Given the description of an element on the screen output the (x, y) to click on. 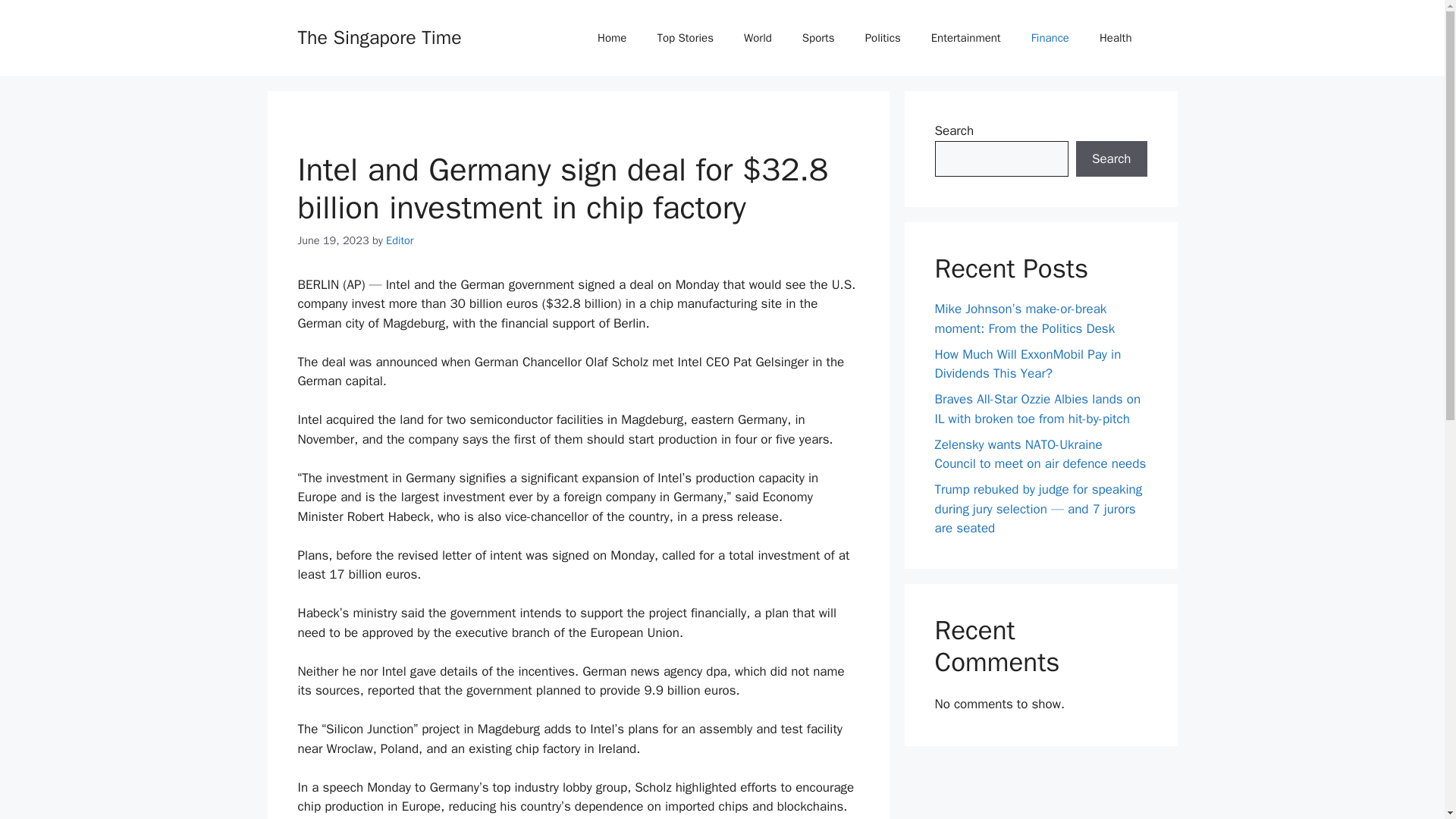
Home (612, 37)
How Much Will ExxonMobil Pay in Dividends This Year? (1027, 363)
Health (1115, 37)
View all posts by Editor (399, 240)
Finance (1050, 37)
World (758, 37)
Top Stories (685, 37)
Entertainment (965, 37)
Editor (399, 240)
